Given the description of an element on the screen output the (x, y) to click on. 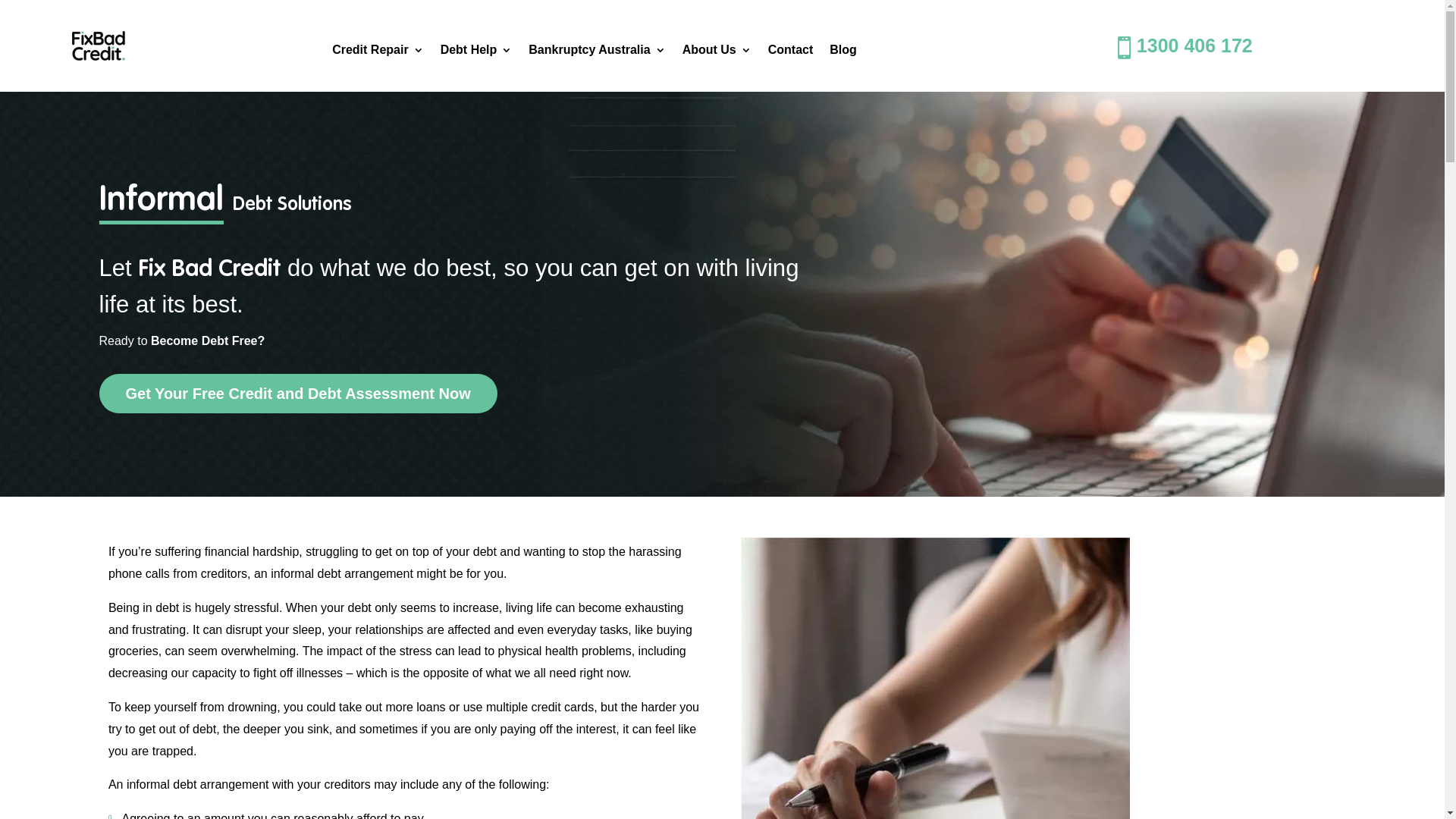
1 Element type: hover (98, 46)
Debt Help Element type: text (476, 52)
Get Your Free Credit and Debt Assessment Now Element type: text (297, 393)
Bankruptcy Australia Element type: text (596, 52)
Contact Element type: text (790, 52)
Credit Repair Element type: text (377, 52)
1300 406 172 Element type: text (1194, 45)
About Us Element type: text (716, 52)
Blog Element type: text (842, 52)
